Given the description of an element on the screen output the (x, y) to click on. 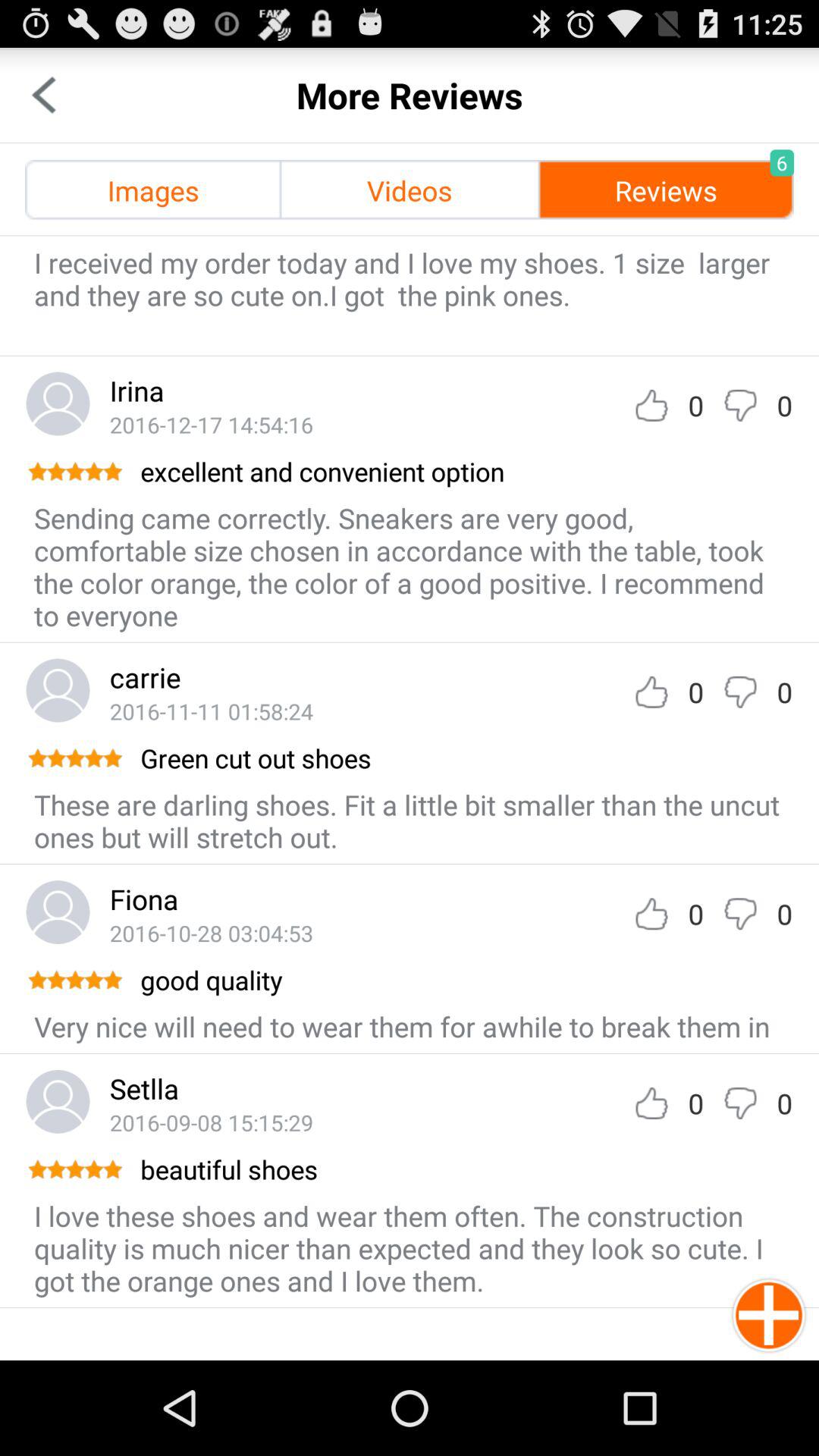
thumb down (740, 405)
